Given the description of an element on the screen output the (x, y) to click on. 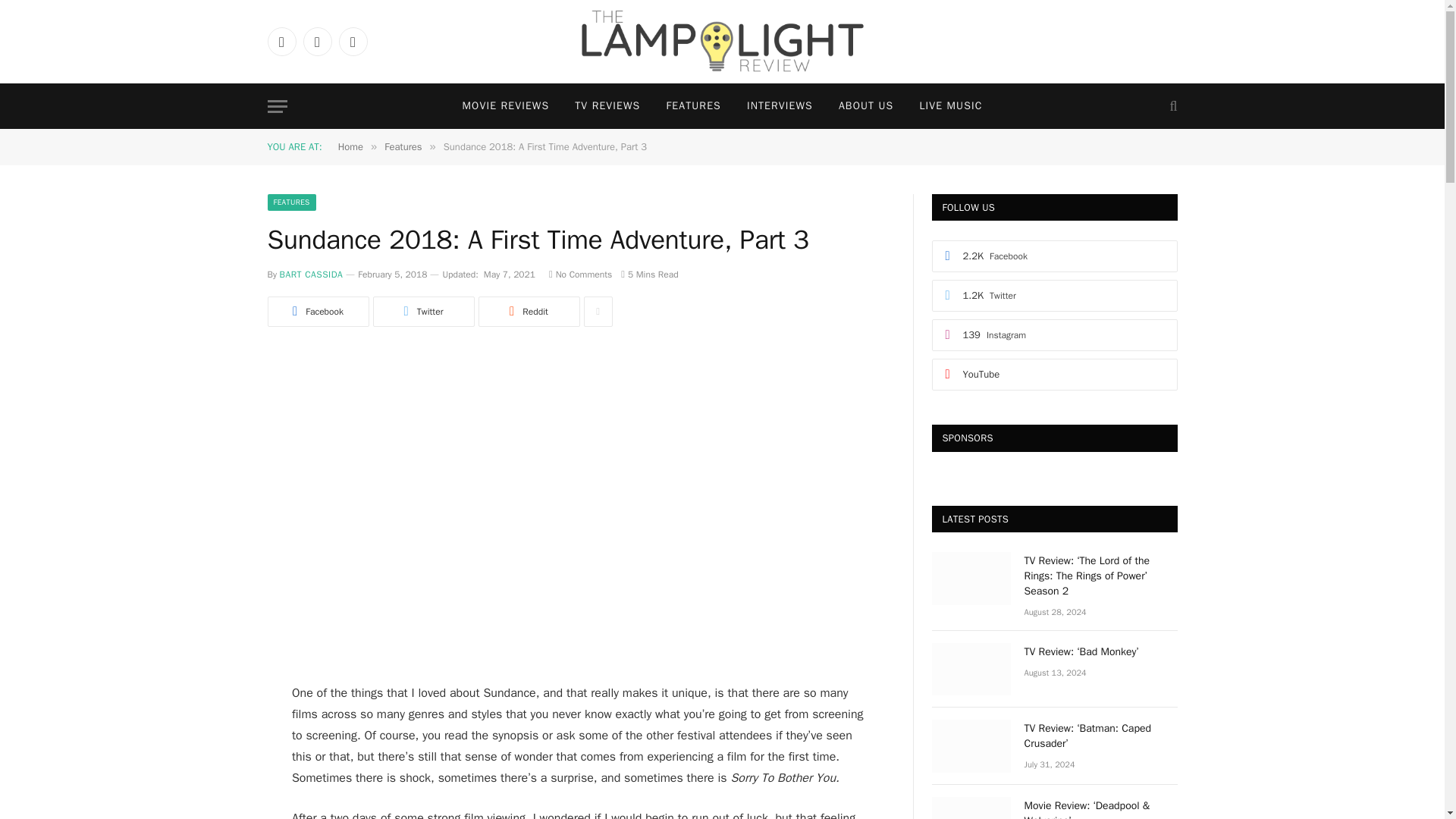
Reddit (528, 311)
Twitter (423, 311)
Share on Facebook (317, 311)
INTERVIEWS (779, 105)
Facebook (280, 41)
Features (403, 146)
ABOUT US (865, 105)
The Lamplight Review (722, 41)
Facebook (317, 311)
No Comments (579, 274)
